Given the description of an element on the screen output the (x, y) to click on. 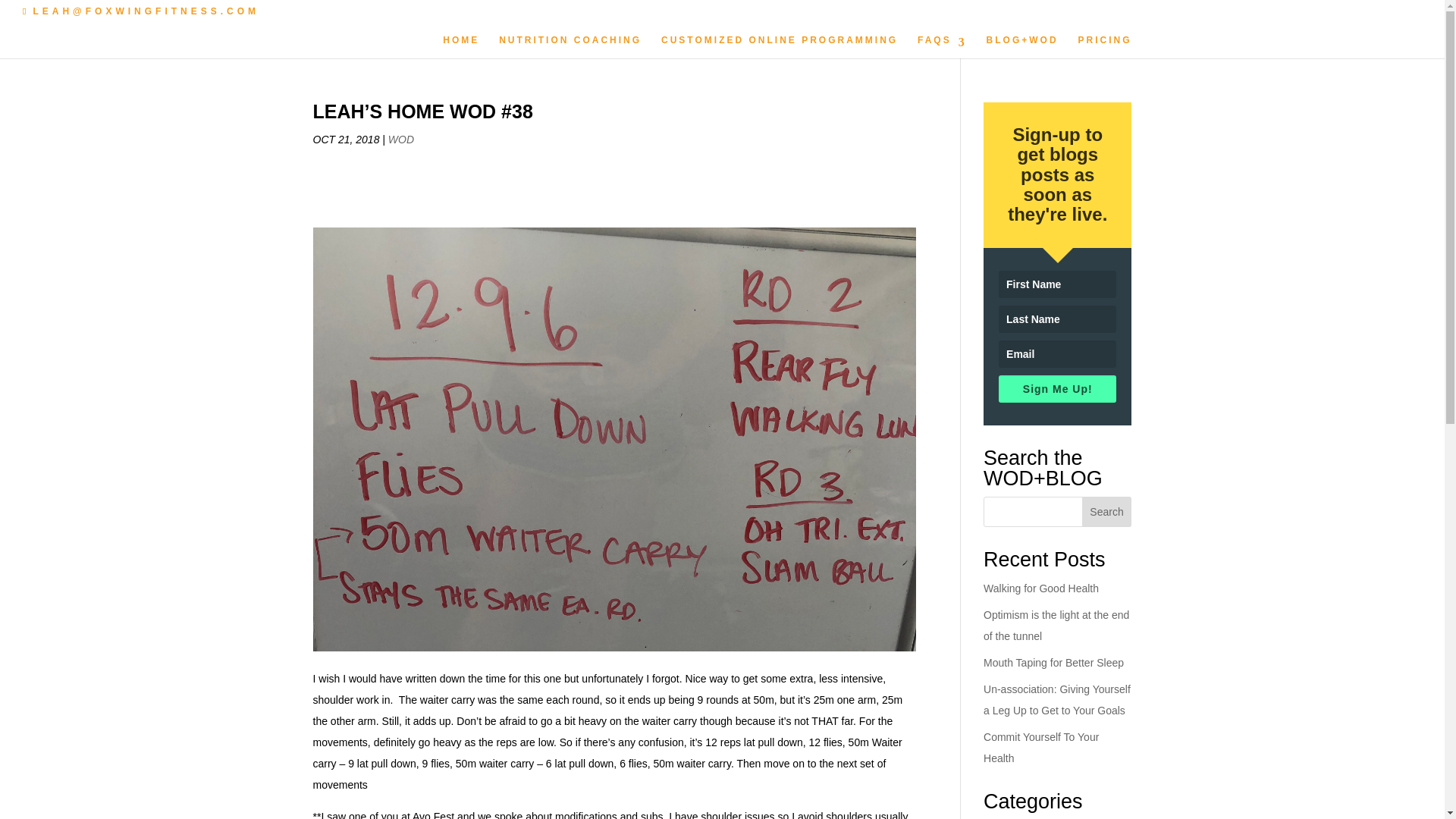
Walking for Good Health (1041, 588)
WOD (400, 139)
CUSTOMIZED ONLINE PROGRAMMING (779, 46)
Optimism is the light at the end of the tunnel (1056, 625)
Mouth Taping for Better Sleep (1054, 662)
NUTRITION COACHING (570, 46)
HOME (460, 46)
FAQS (941, 46)
Search (1106, 511)
